Given the description of an element on the screen output the (x, y) to click on. 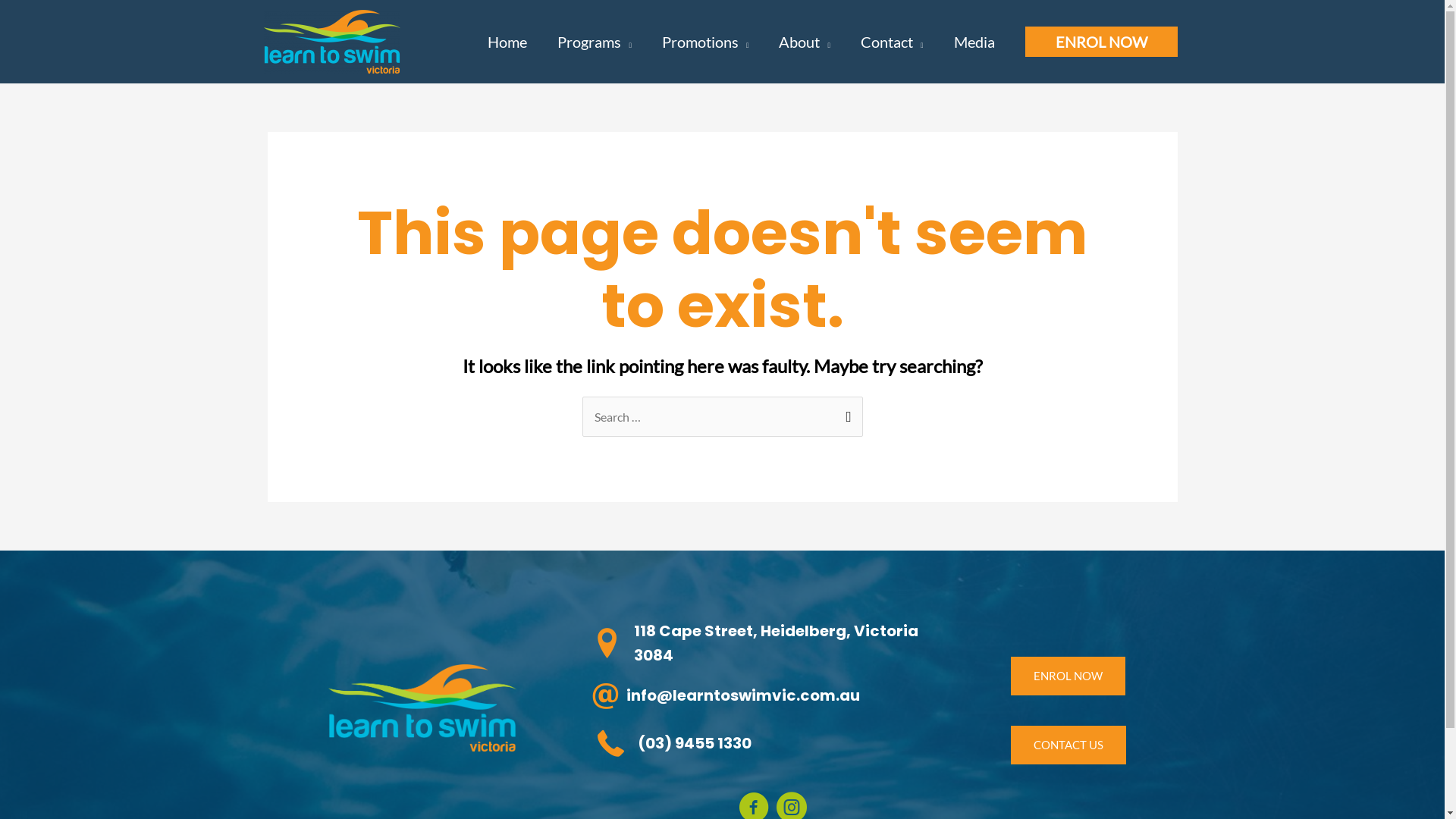
Promotions Element type: text (705, 41)
ENROL NOW Element type: text (1067, 675)
Media Element type: text (974, 41)
ltsv high res logo Element type: hover (421, 708)
CONTACT US Element type: text (1067, 744)
ENROL NOW Element type: text (1101, 41)
About Element type: text (804, 41)
Search Element type: text (845, 411)
Programs Element type: text (594, 41)
Contact Element type: text (891, 41)
Home Element type: text (507, 41)
